Given the description of an element on the screen output the (x, y) to click on. 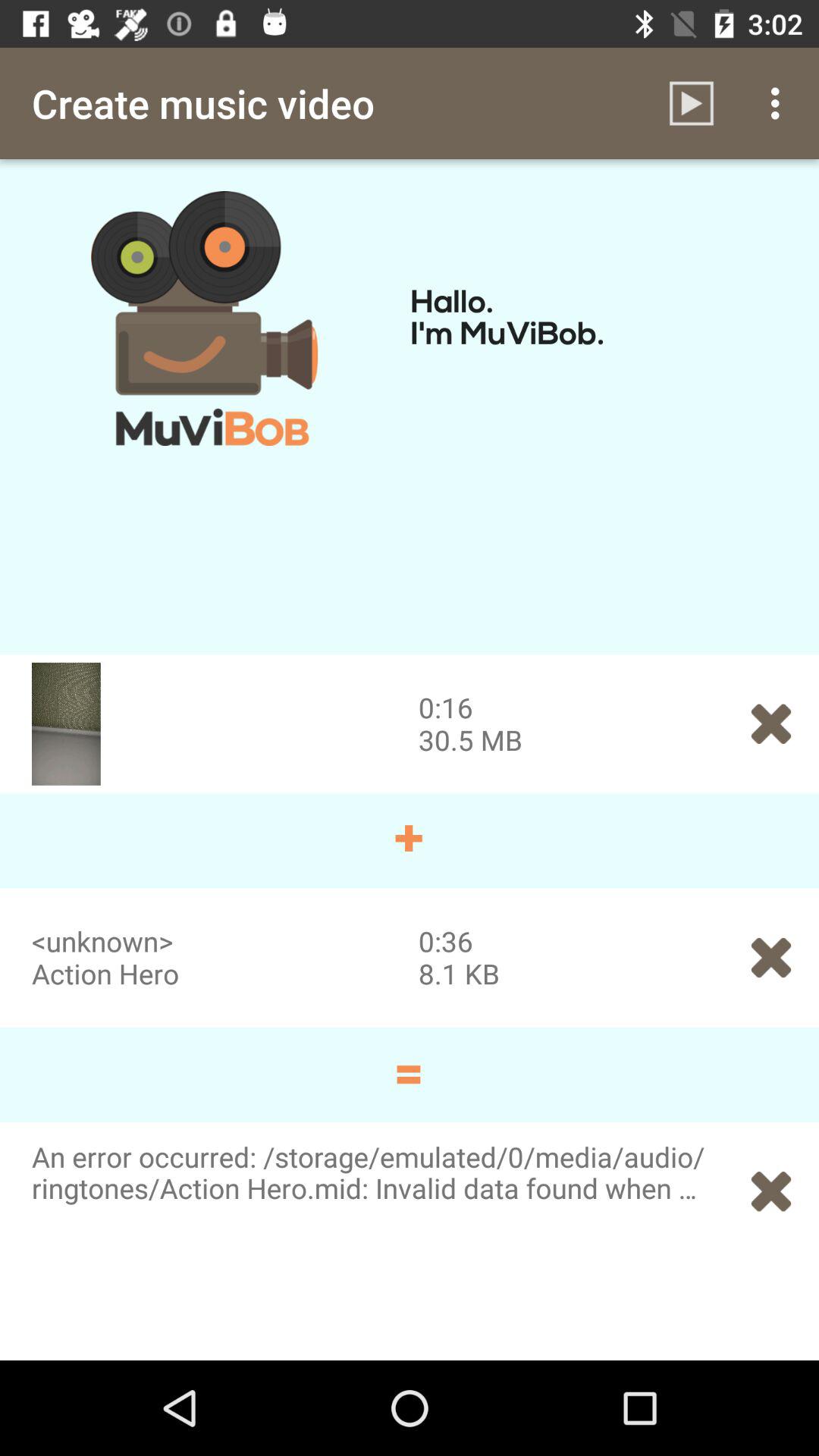
click on the cross in the second option (771, 957)
select the symbol which is to the immediate right of 305 mb (771, 723)
click on the icon at the bottom right corner of the page (771, 1191)
click on menu (779, 103)
